Given the description of an element on the screen output the (x, y) to click on. 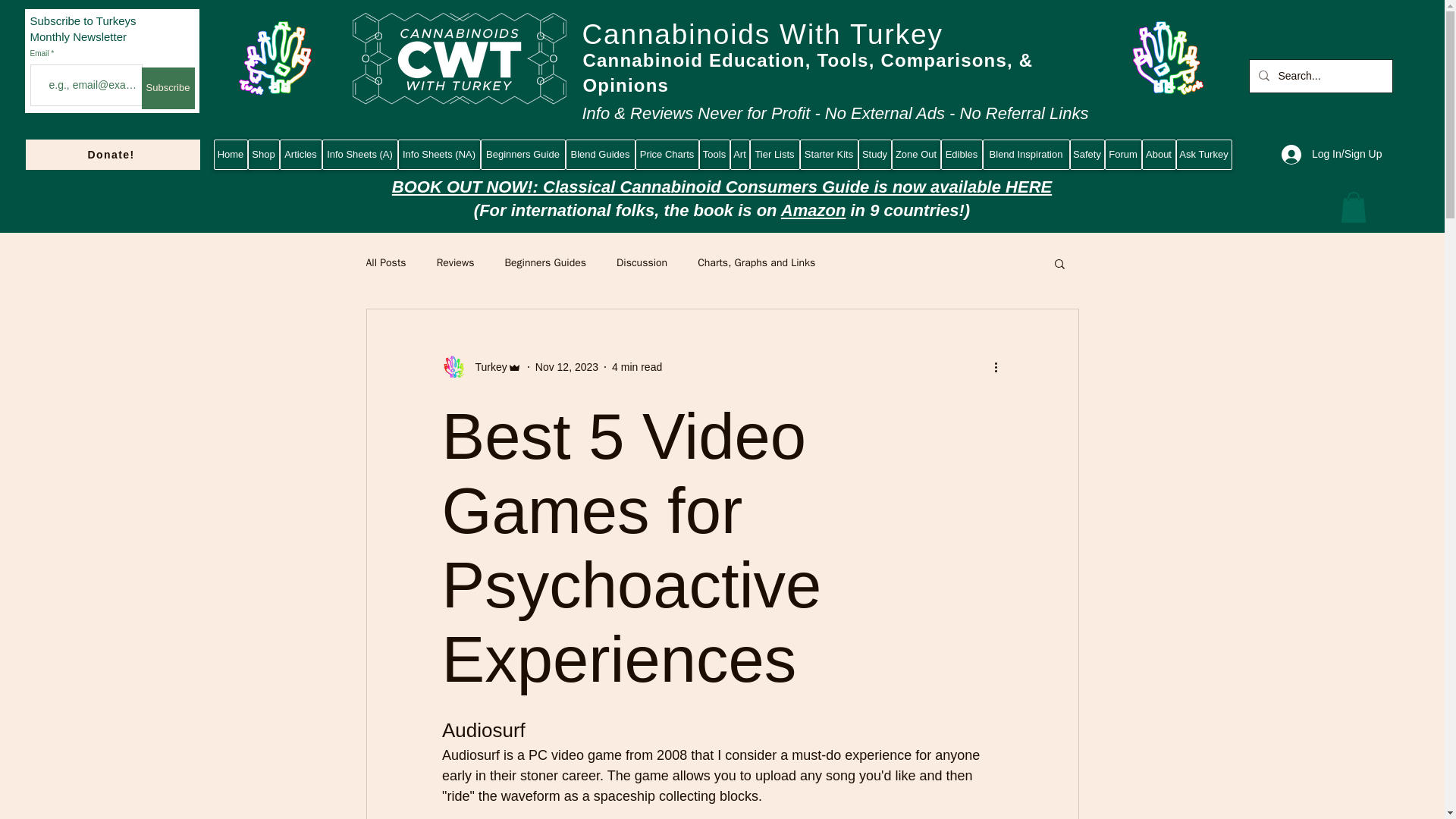
Home (230, 154)
Turkey (485, 367)
Cannabinoids With Turkey (762, 33)
Shop (263, 154)
Subscribe (167, 87)
4 min read (636, 367)
Donate! (113, 154)
Nov 12, 2023 (566, 367)
Articles (300, 154)
